Given the description of an element on the screen output the (x, y) to click on. 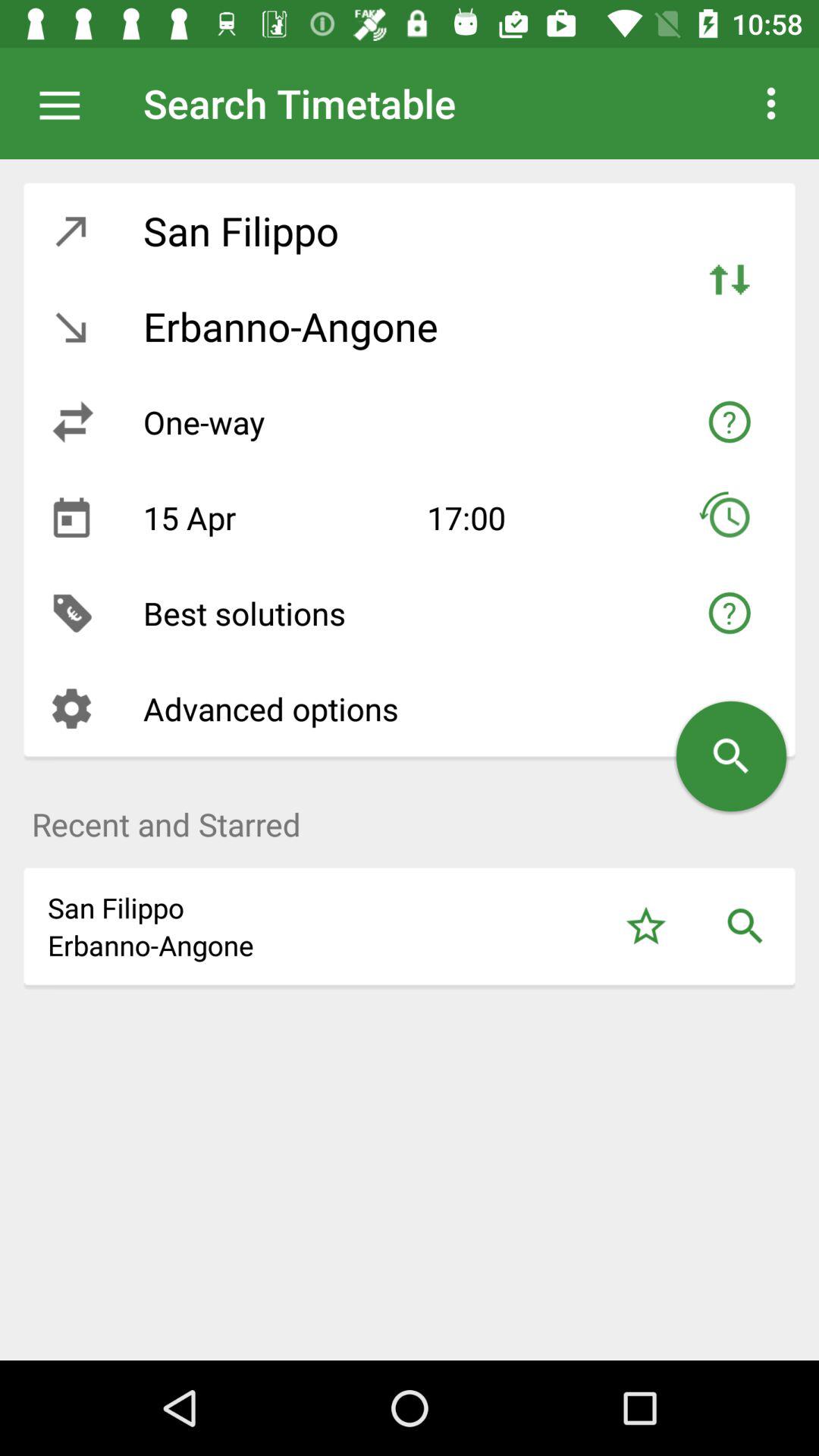
mark selection (645, 926)
